Given the description of an element on the screen output the (x, y) to click on. 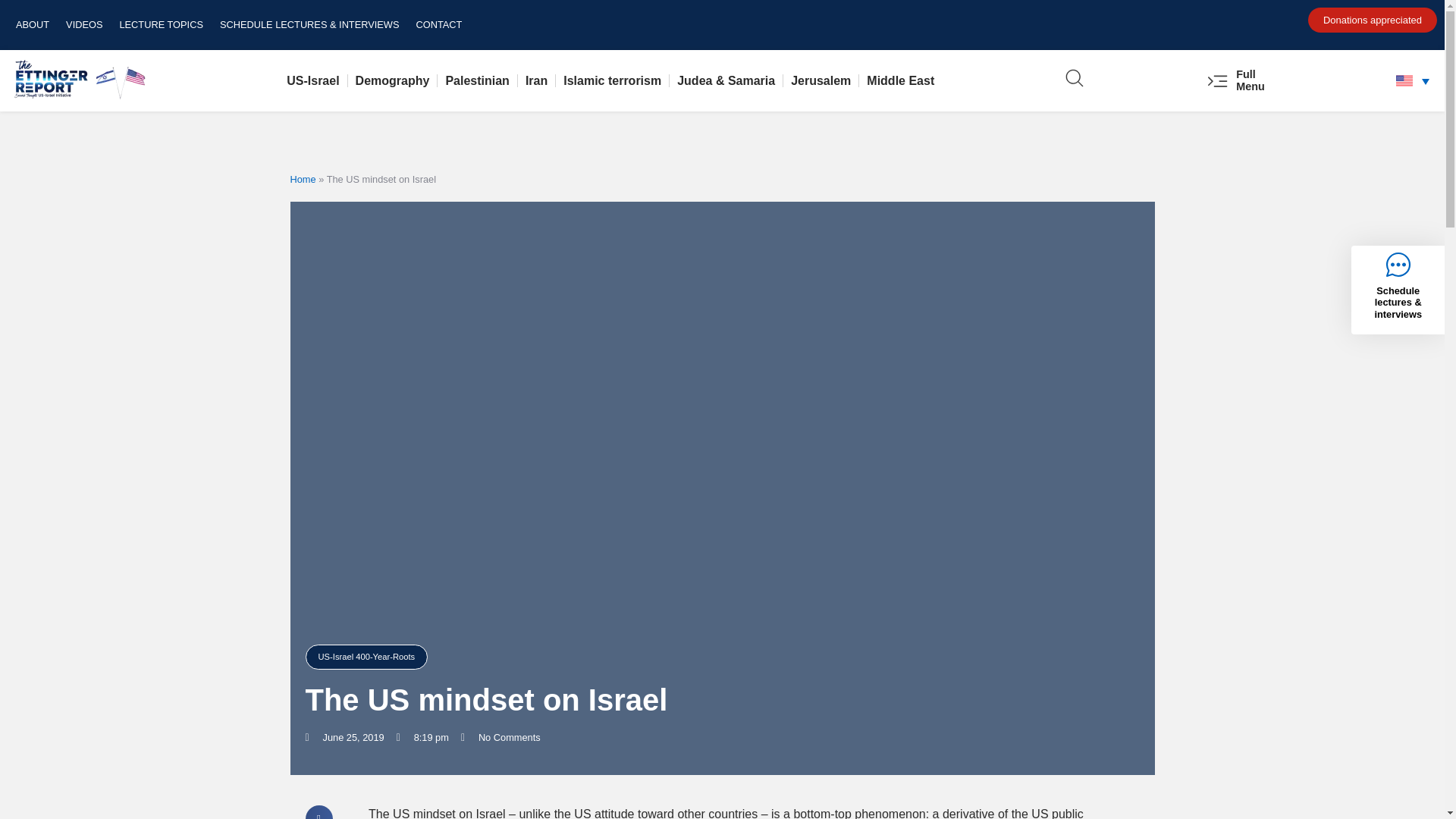
Demography (392, 80)
CONTACT (438, 24)
Iran (536, 80)
Palestinian (477, 80)
US-Israel (312, 80)
LECTURE TOPICS (160, 24)
VIDEOS (84, 24)
ABOUT (32, 24)
Donations appreciated (1372, 19)
